Given the description of an element on the screen output the (x, y) to click on. 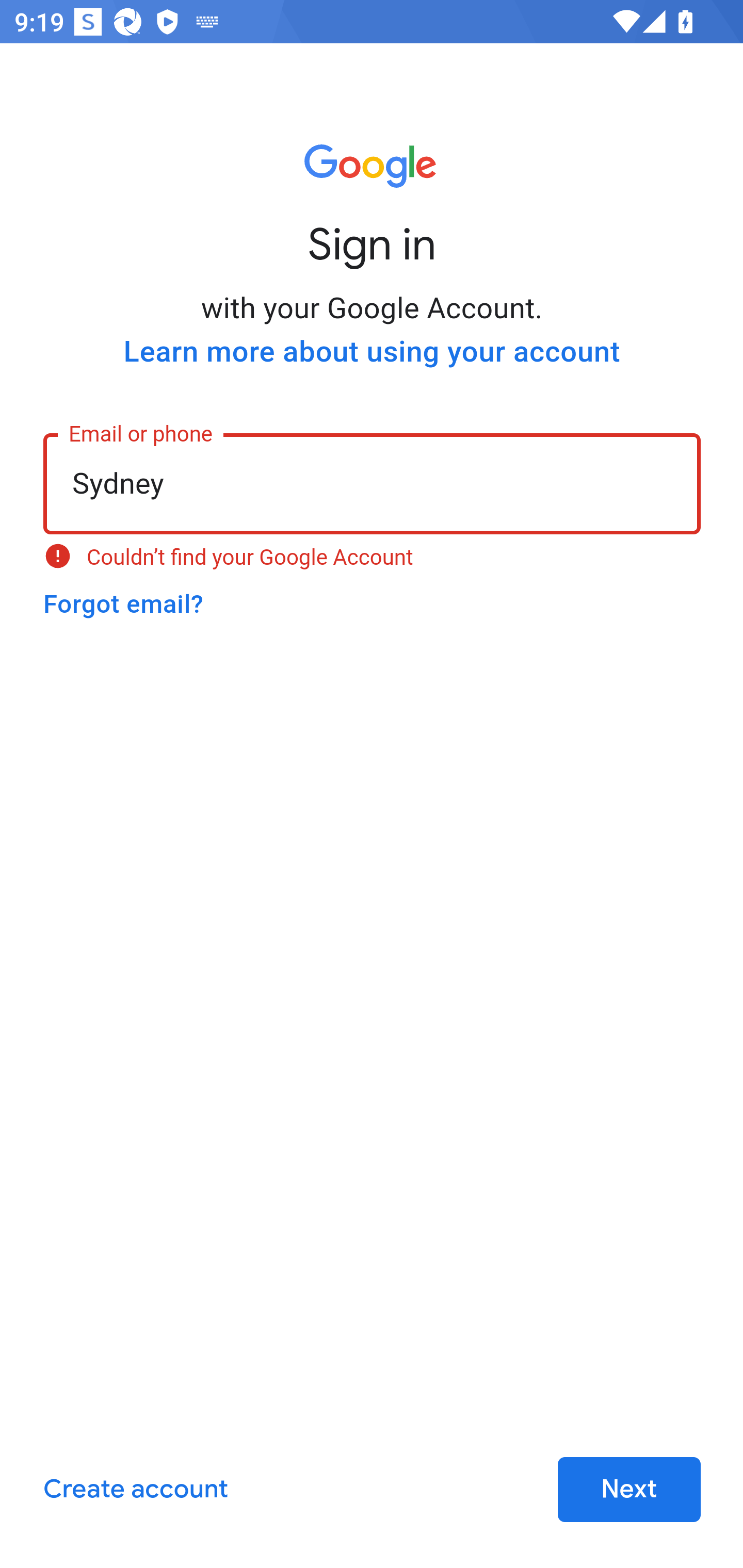
Learn more about using your account (371, 351)
Sydney (372, 481)
Forgot email? (123, 604)
Create account (134, 1490)
Next (629, 1490)
